Given the description of an element on the screen output the (x, y) to click on. 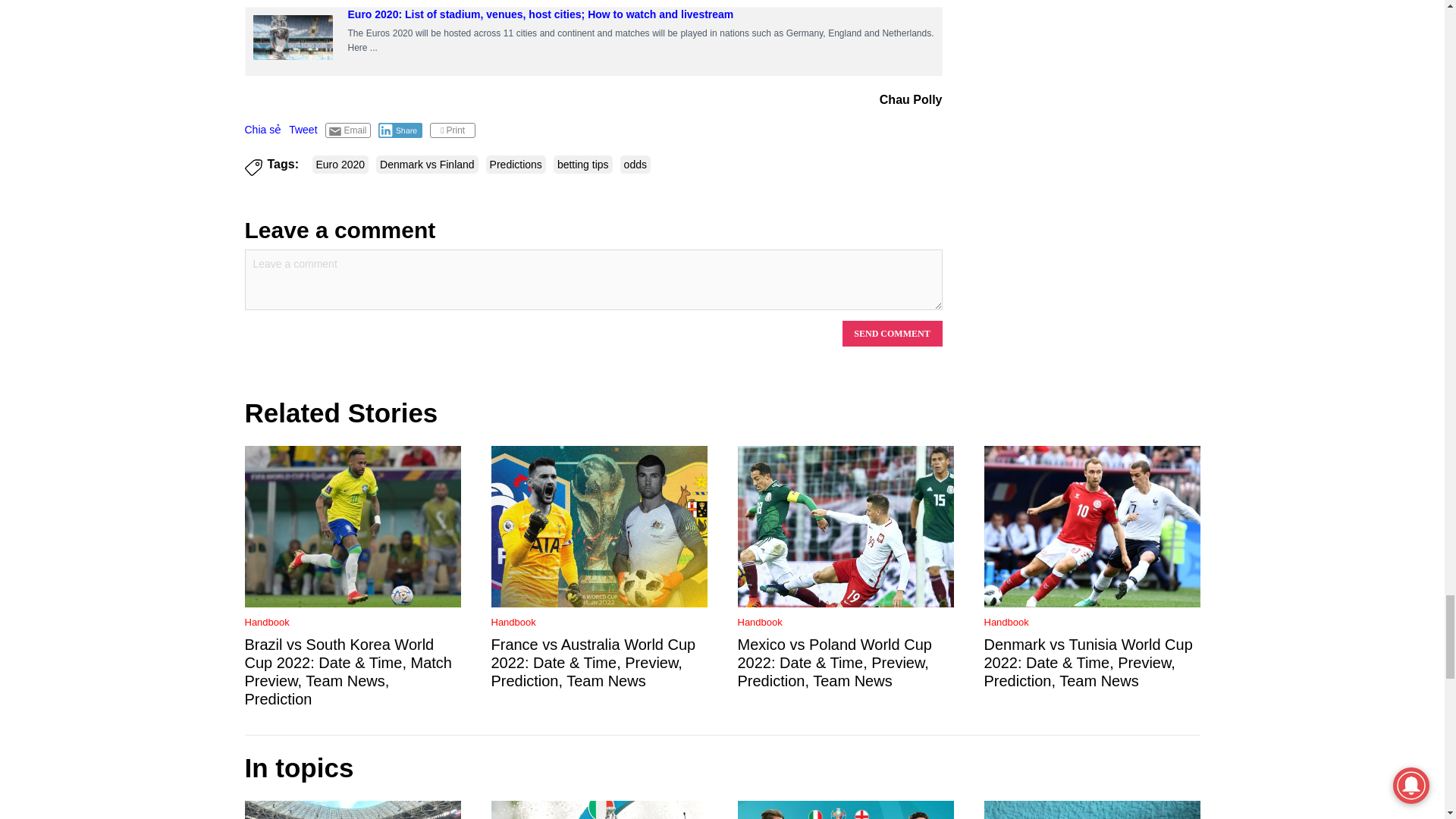
Tweet (302, 129)
